Given the description of an element on the screen output the (x, y) to click on. 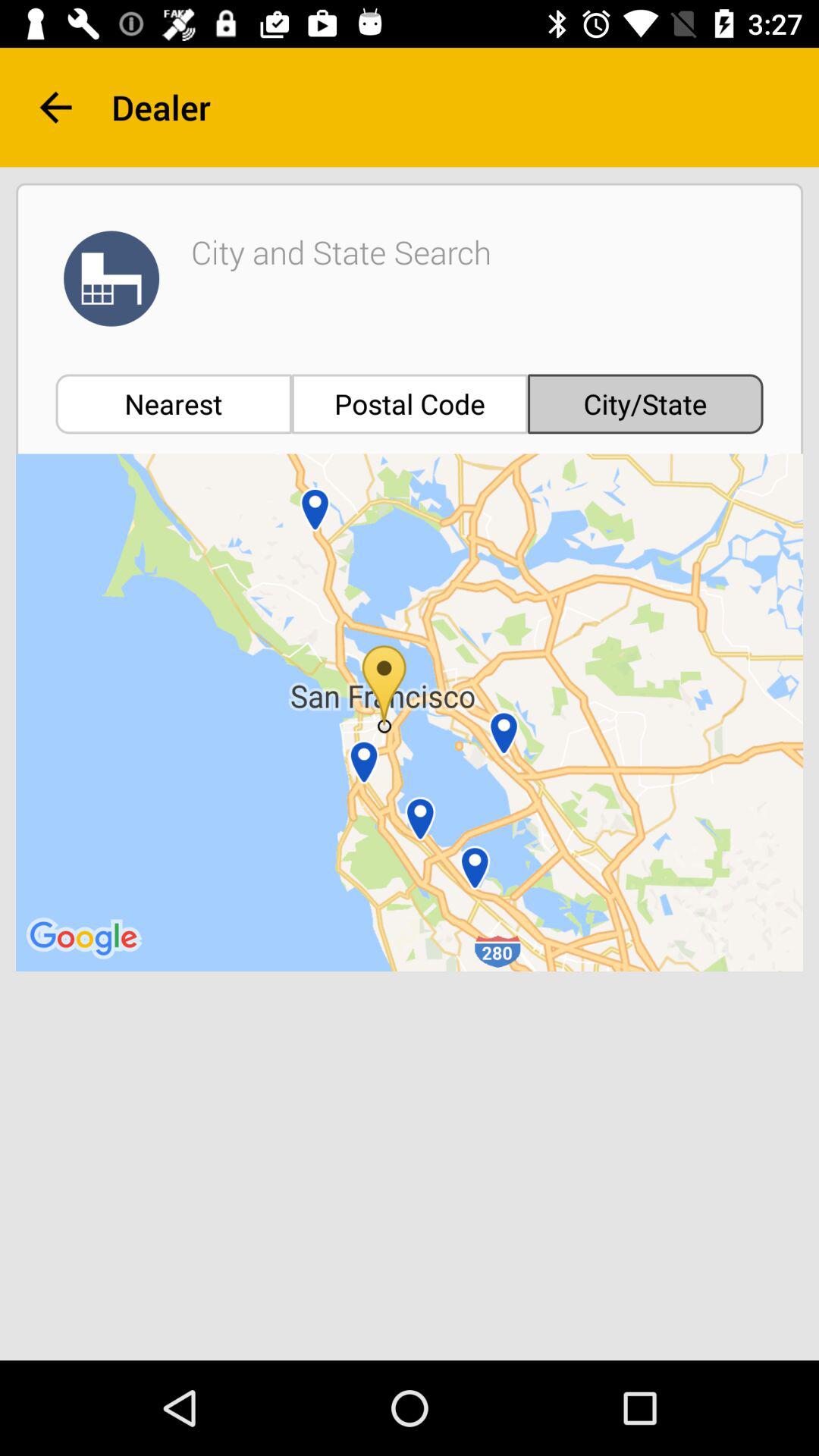
turn on the icon at the center (409, 712)
